Given the description of an element on the screen output the (x, y) to click on. 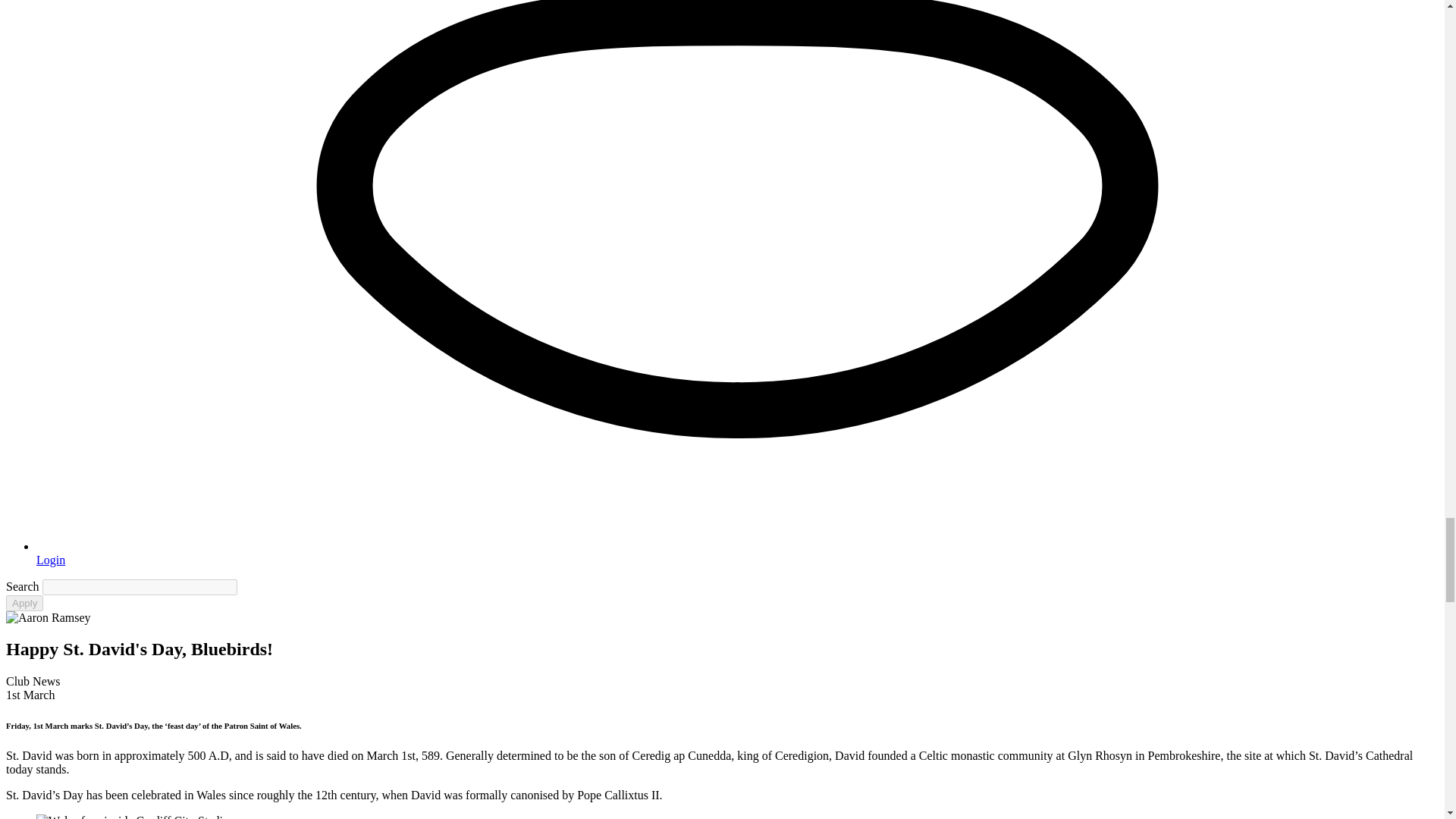
Apply (24, 602)
